Given the description of an element on the screen output the (x, y) to click on. 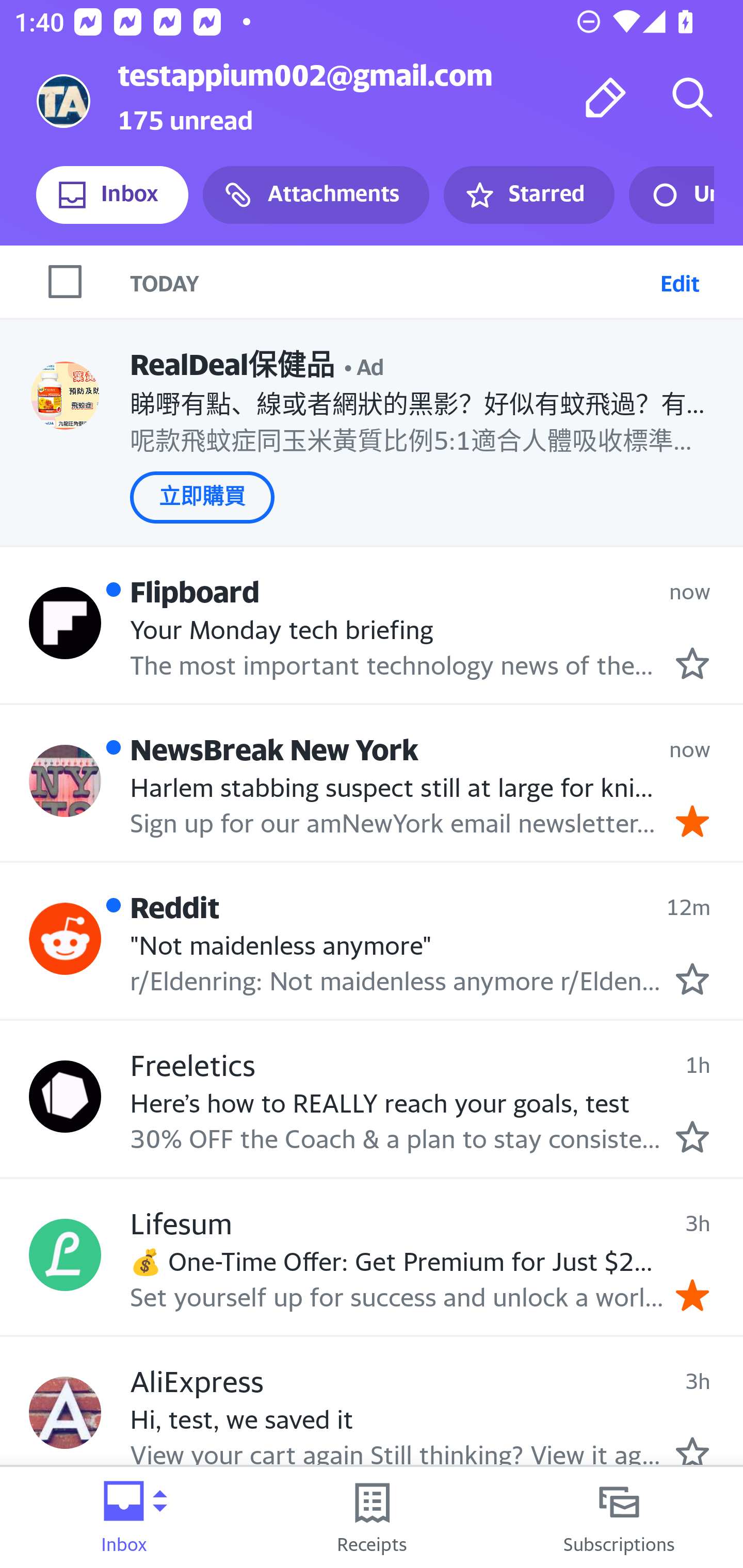
Compose (605, 97)
Search mail (692, 97)
Attachments (315, 195)
Starred (528, 195)
TODAY (391, 281)
Edit Select emails (679, 281)
Profile
Flipboard (64, 622)
Mark as starred. (692, 664)
Profile
NewsBreak New York (64, 780)
Remove star. (692, 820)
Profile
Reddit (64, 939)
Mark as starred. (692, 979)
Profile
Freeletics (64, 1095)
Mark as starred. (692, 1136)
Profile
Lifesum (64, 1254)
Remove star. (692, 1294)
Profile
AliExpress (64, 1412)
Mark as starred. (692, 1452)
Inbox Folder picker (123, 1517)
Receipts (371, 1517)
Subscriptions (619, 1517)
